Given the description of an element on the screen output the (x, y) to click on. 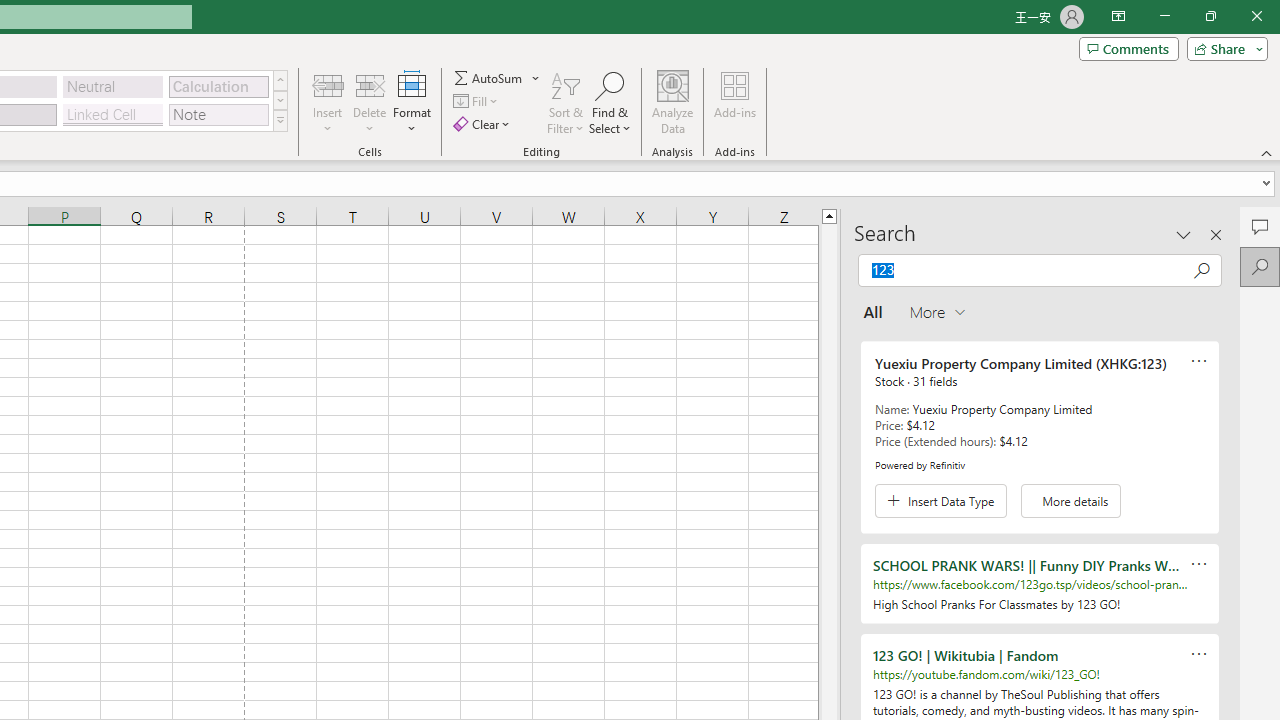
Cell Styles (280, 120)
Note (218, 114)
